Given the description of an element on the screen output the (x, y) to click on. 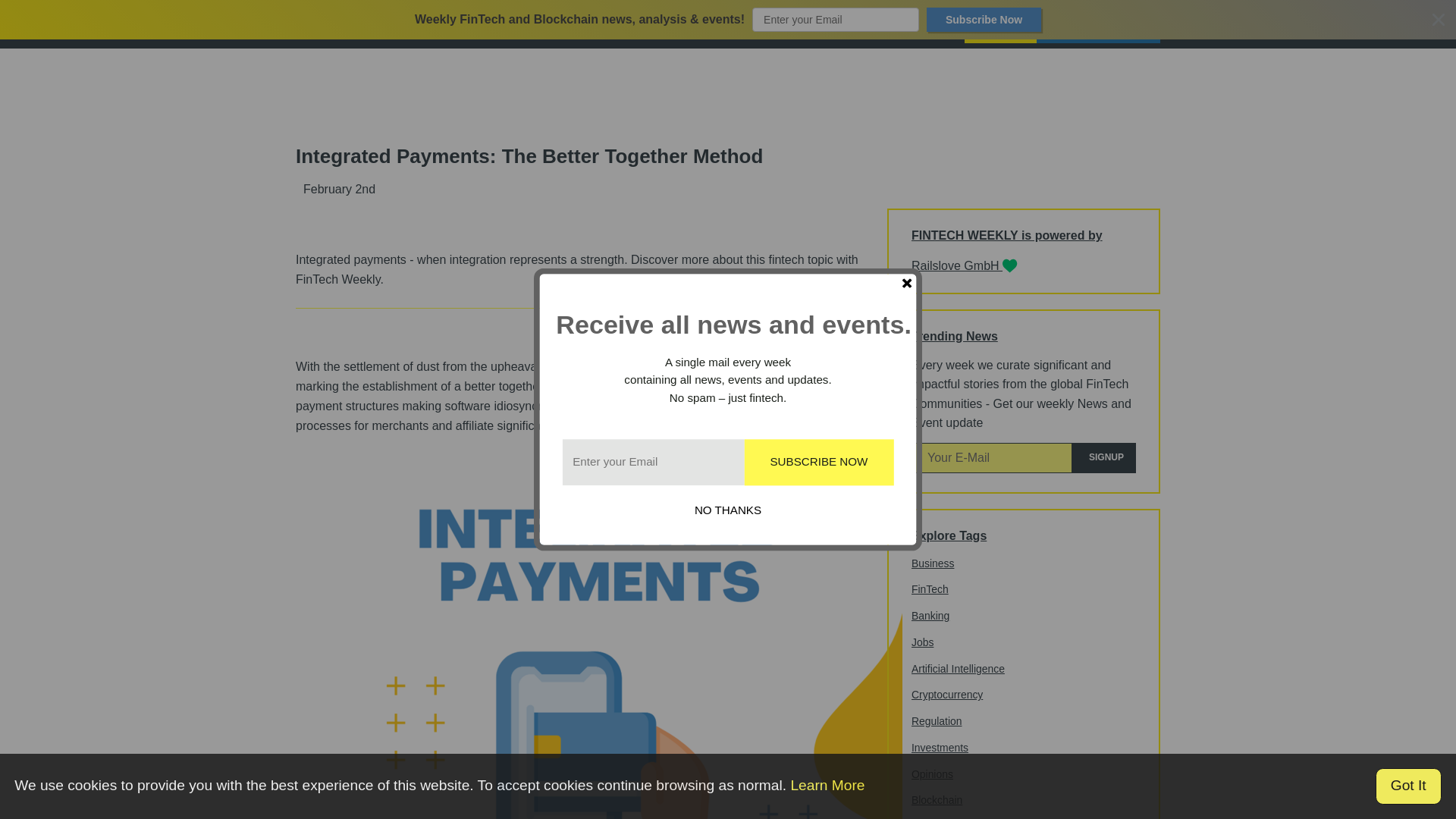
COMPANIES (793, 26)
FINTECH WEEKLY ON FACEBOOK (470, 24)
SIGNUP (1103, 458)
FINTECH WEEKLY ON TWITTER (452, 24)
CONFERENCES (705, 26)
FINTECH NEWS (609, 26)
MAGAZINE (1000, 26)
Subscribe Now (983, 19)
ADVERTISING (919, 26)
Blockchain (936, 799)
FINTECH WEEKLY ON TELEGRAM (506, 24)
Regulation (936, 720)
FINTECH WEEKLY (344, 23)
Cryptocurrency (946, 694)
